Given the description of an element on the screen output the (x, y) to click on. 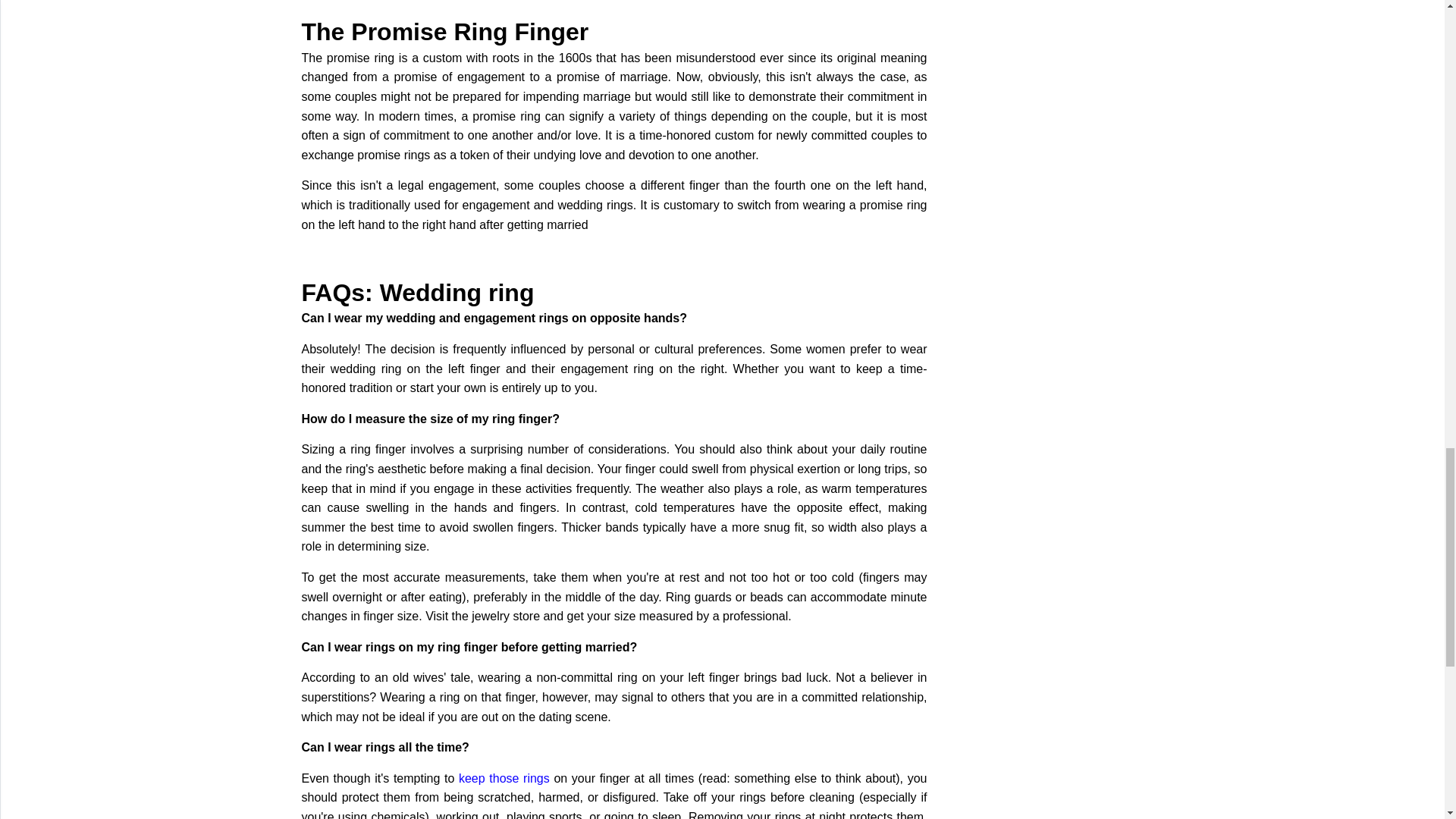
keep those rings (504, 778)
